Given the description of an element on the screen output the (x, y) to click on. 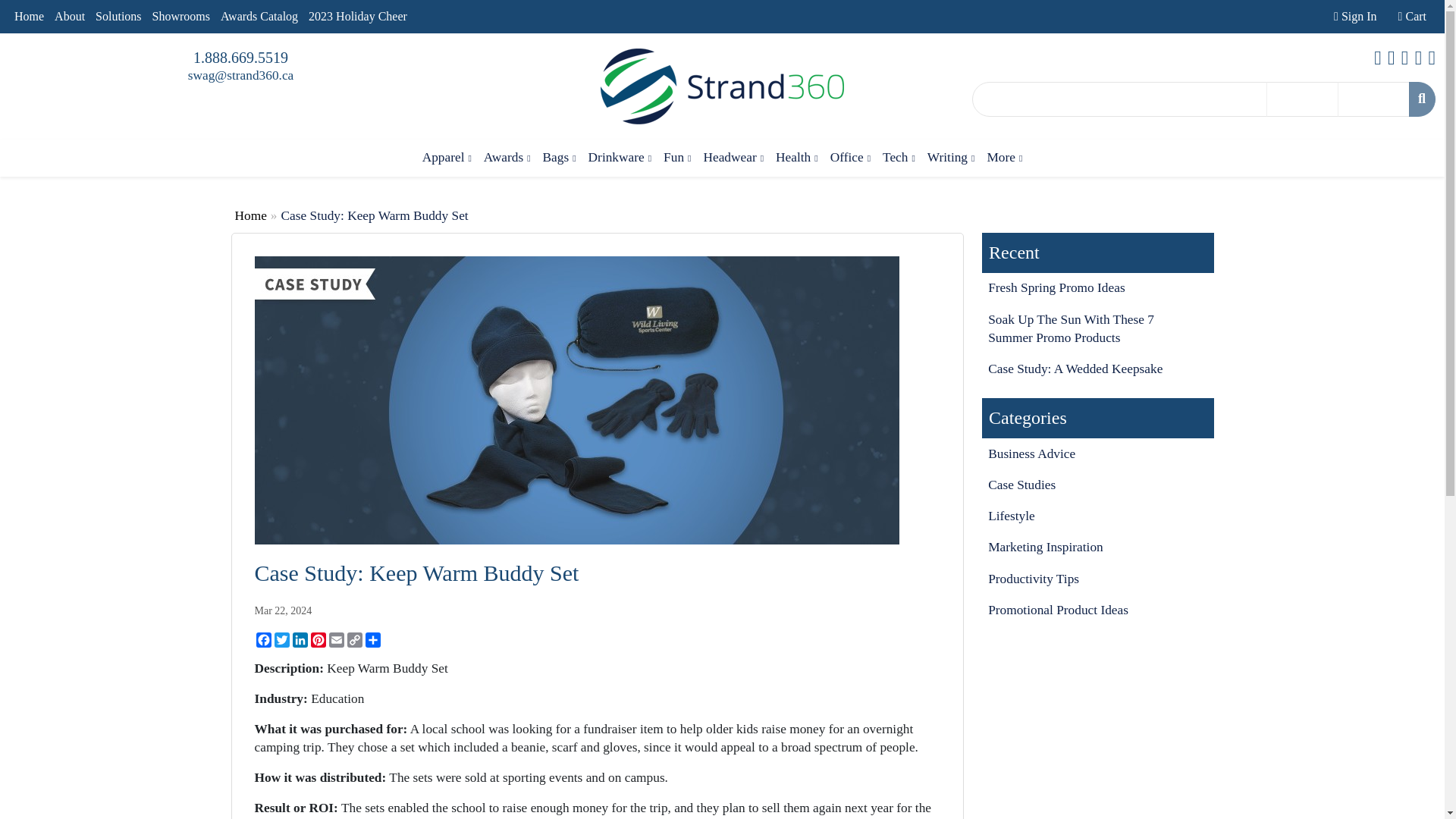
Cart (1412, 16)
2023 Holiday Cheer (357, 16)
1.888.669.5519 (240, 57)
Awards Catalog (258, 16)
About (69, 16)
Sign In (1354, 16)
Solutions (118, 16)
Showrooms (181, 16)
Home (28, 16)
